Given the description of an element on the screen output the (x, y) to click on. 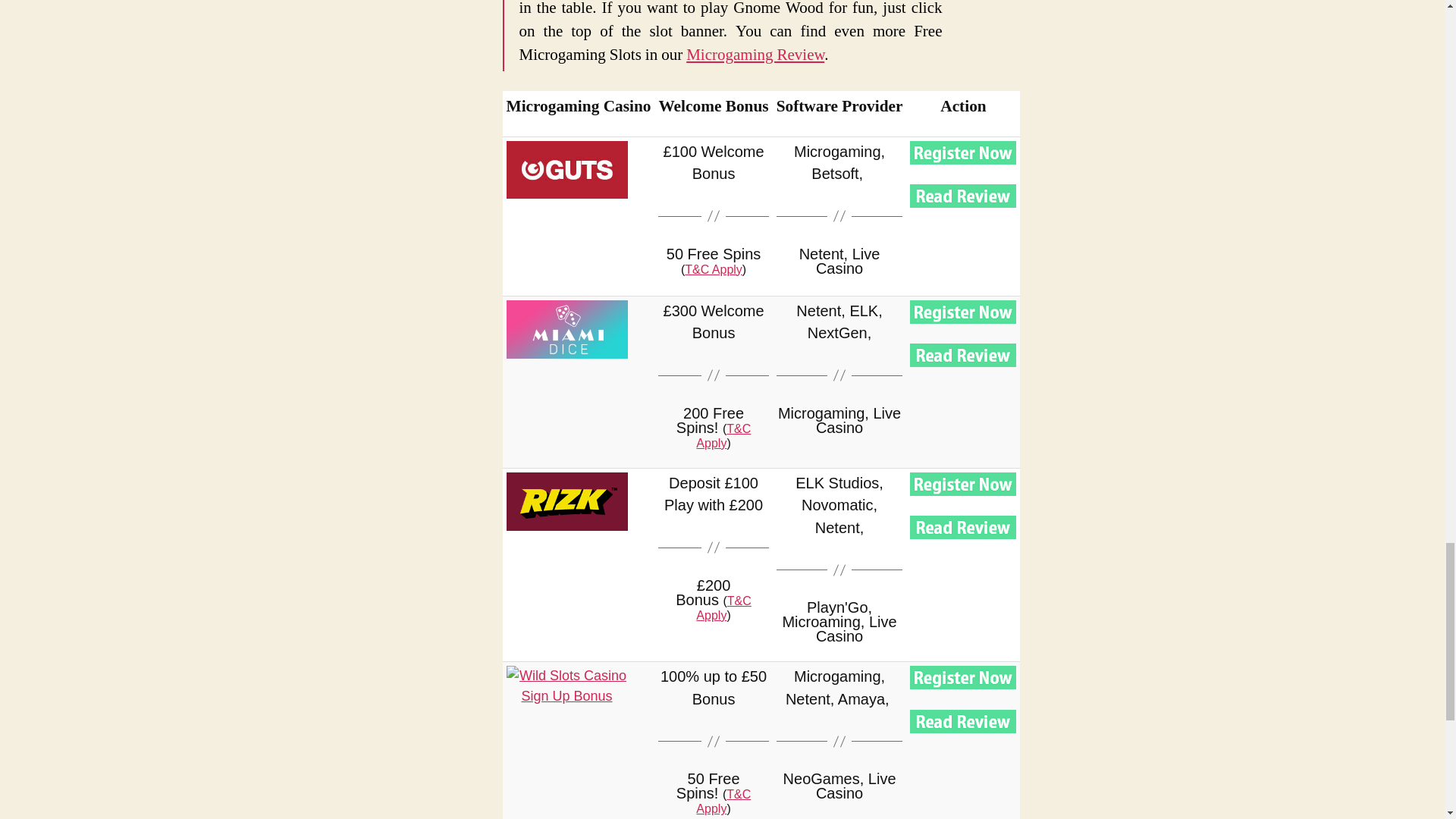
Go to Miami Dice (566, 329)
Wild Slots Casino Review (963, 721)
Slot Boss Casino Review (963, 526)
Miami Dice Casino Review (963, 354)
Go to Wild Slots (566, 695)
Go to Rizk Casino (963, 484)
Guts Casino Review (963, 196)
Go to Miami Dice (963, 311)
Go to Guts (566, 169)
Go to Wild Slots (963, 677)
Go to Rizk Casino (566, 501)
Go to Guts (963, 152)
